Given the description of an element on the screen output the (x, y) to click on. 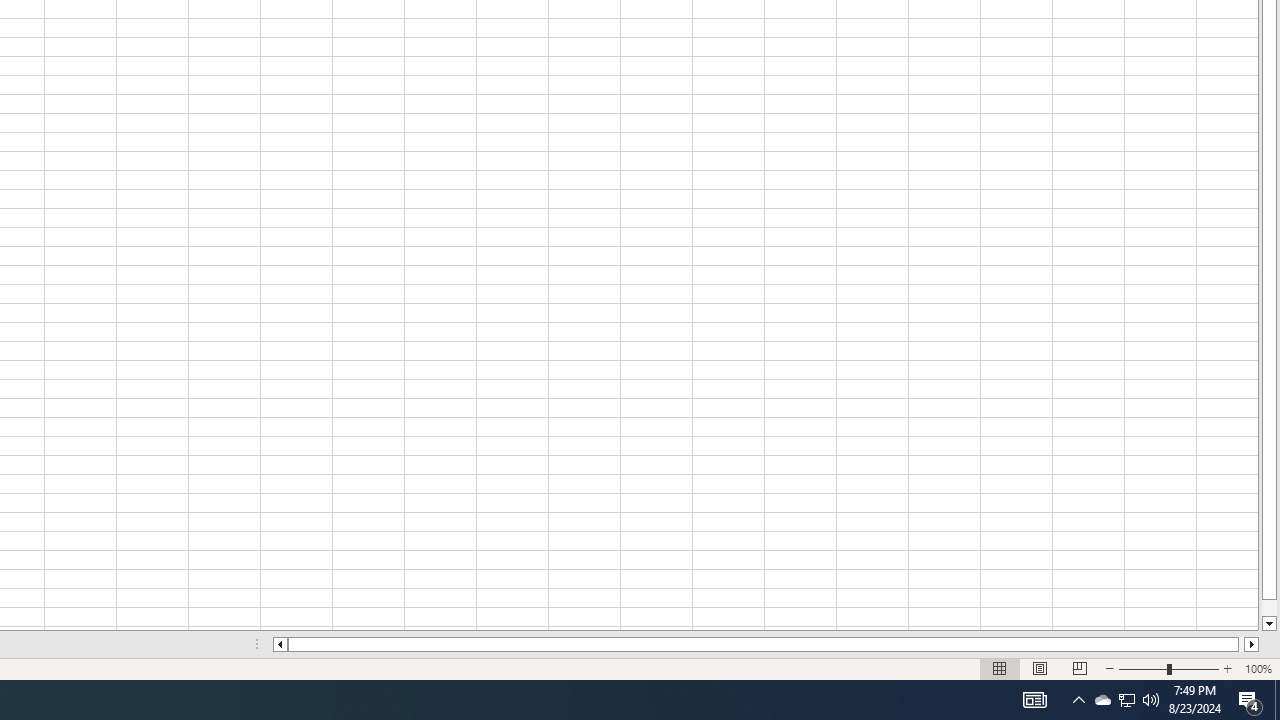
Page down (1268, 607)
Zoom In (1227, 668)
Zoom (1168, 668)
Page right (1241, 644)
Class: NetUIScrollBar (765, 644)
Line down (1268, 624)
Column left (279, 644)
Column right (1252, 644)
Zoom Out (1142, 668)
Page Break Preview (1079, 668)
